Given the description of an element on the screen output the (x, y) to click on. 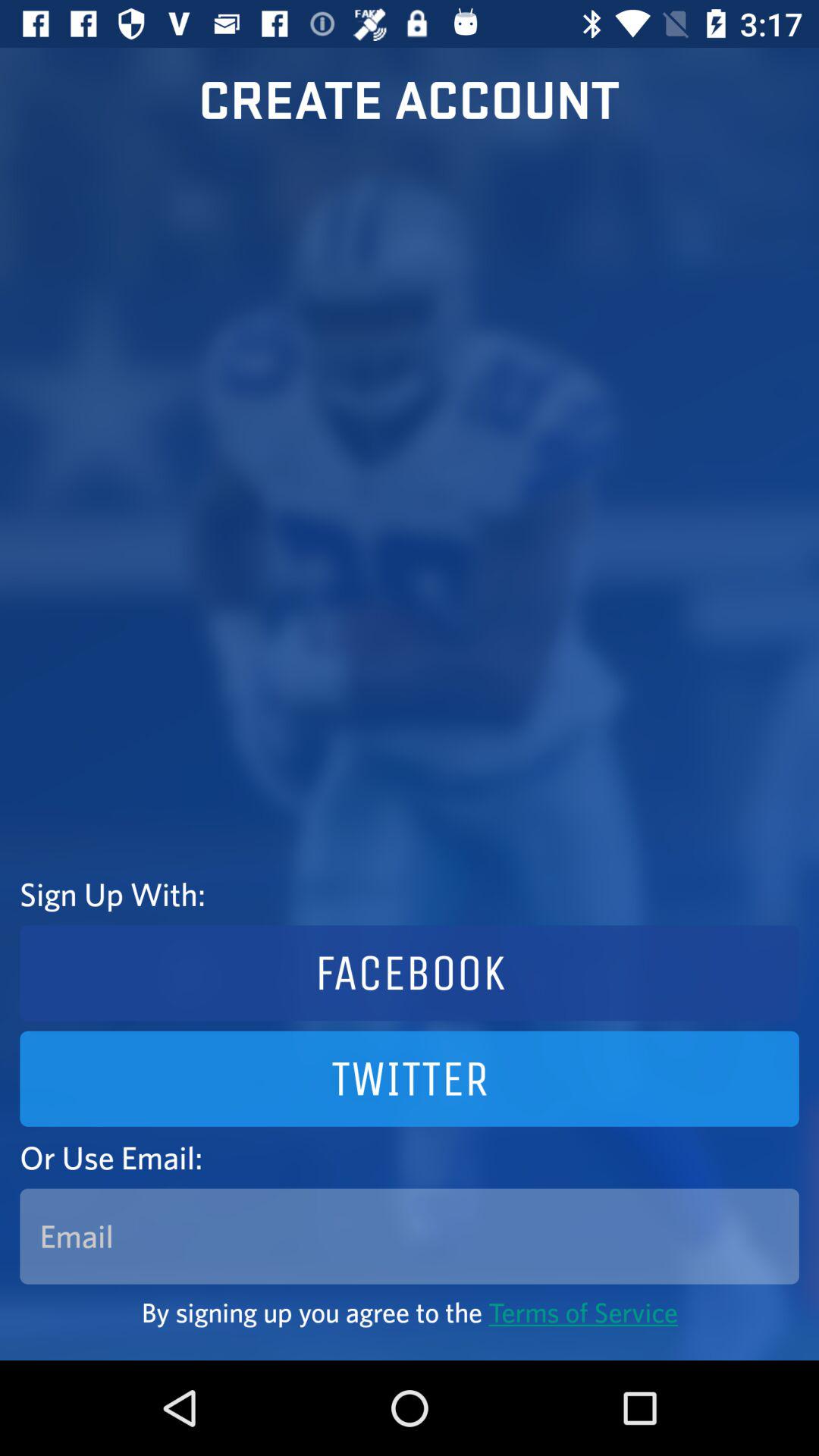
swipe to the by signing up icon (409, 1312)
